Given the description of an element on the screen output the (x, y) to click on. 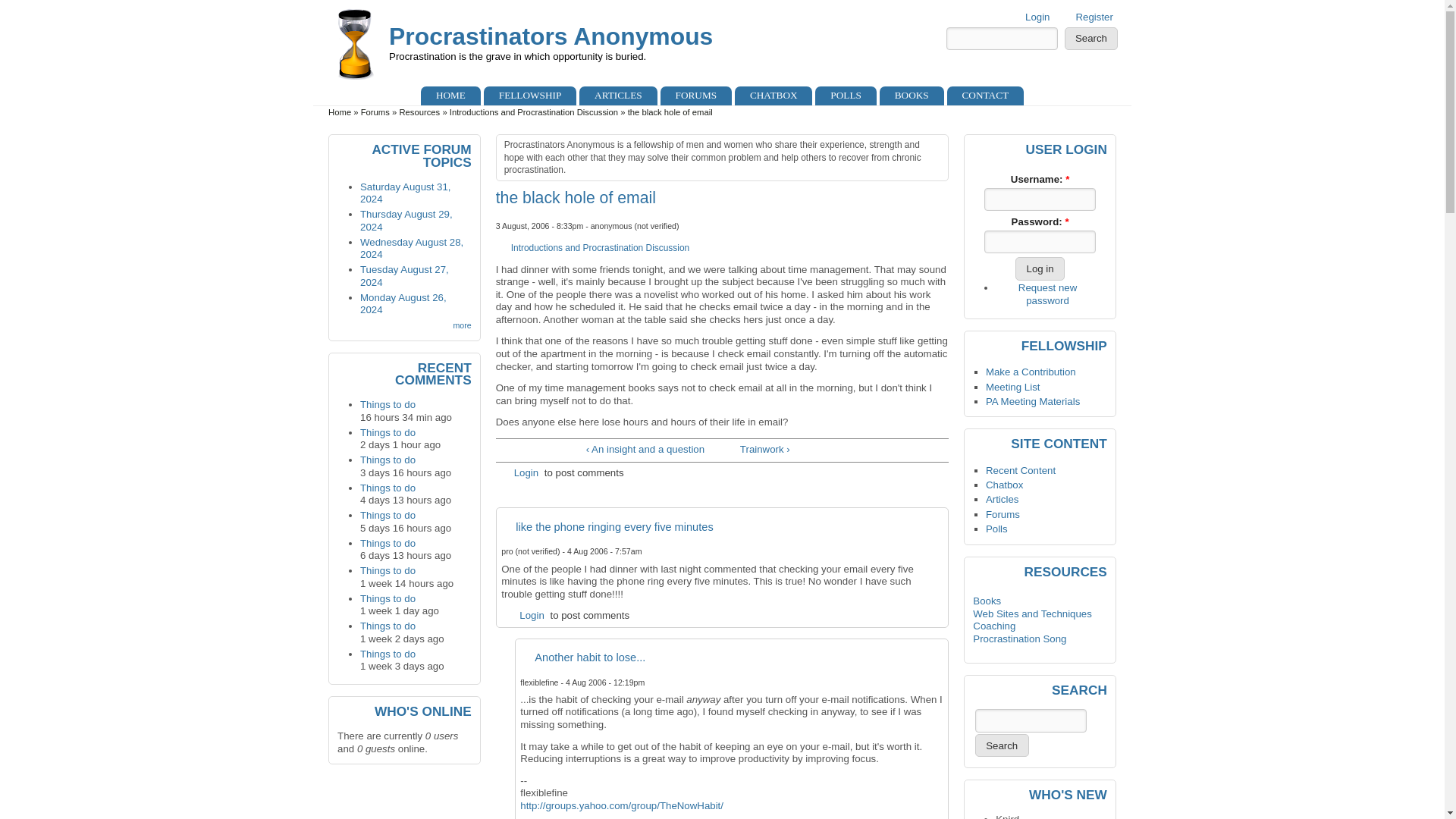
Register (1093, 16)
Home (339, 112)
Things to do (386, 542)
Thursday August 29, 2024 (405, 220)
Procrastinators Anonymous (550, 35)
more (454, 325)
Resources (418, 112)
Request new password via e-mail. (1047, 293)
